Given the description of an element on the screen output the (x, y) to click on. 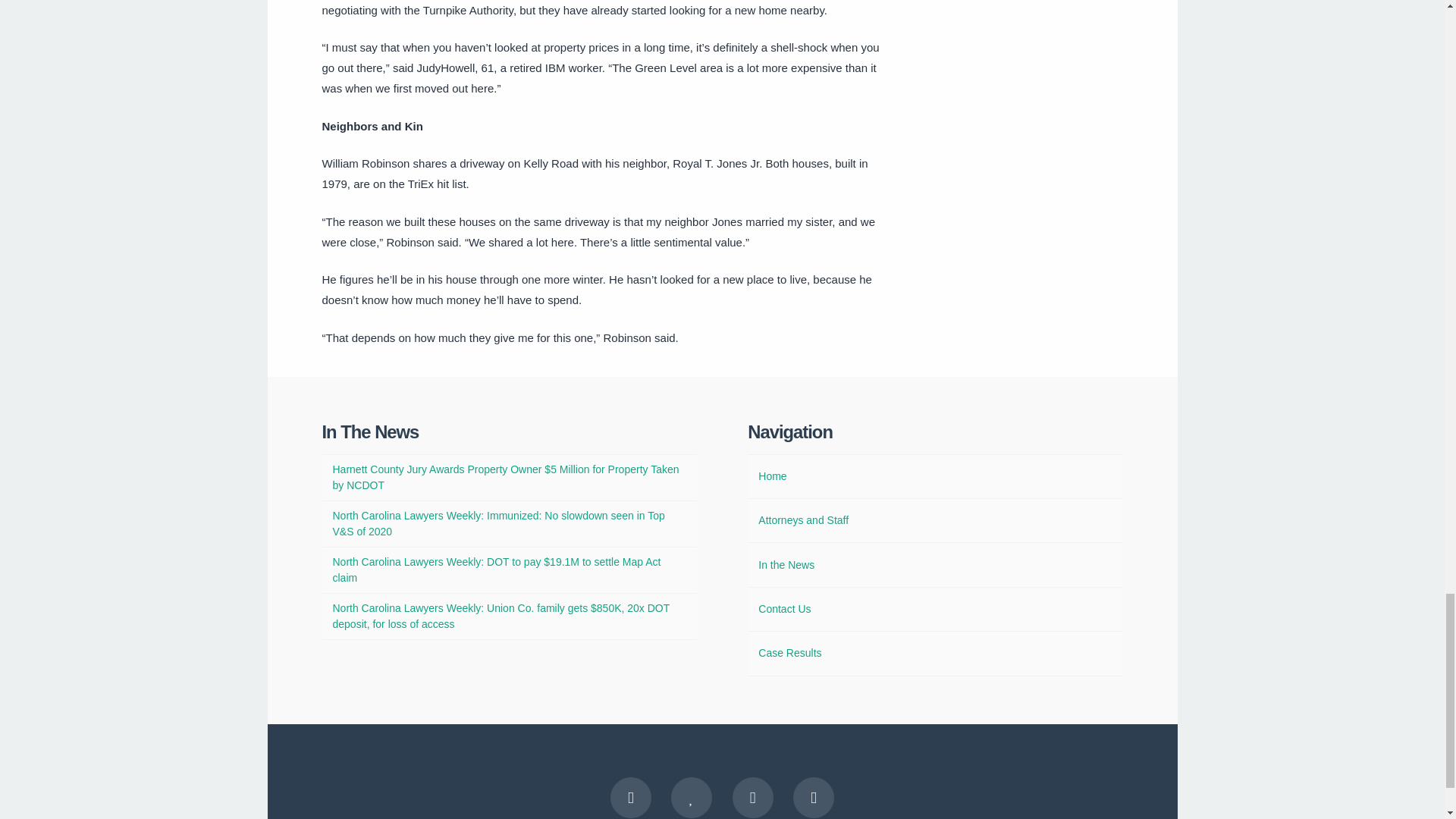
Contact Us (784, 609)
In the News (785, 565)
Attorneys and Staff (803, 520)
Case Results (789, 652)
Home (772, 476)
